Given the description of an element on the screen output the (x, y) to click on. 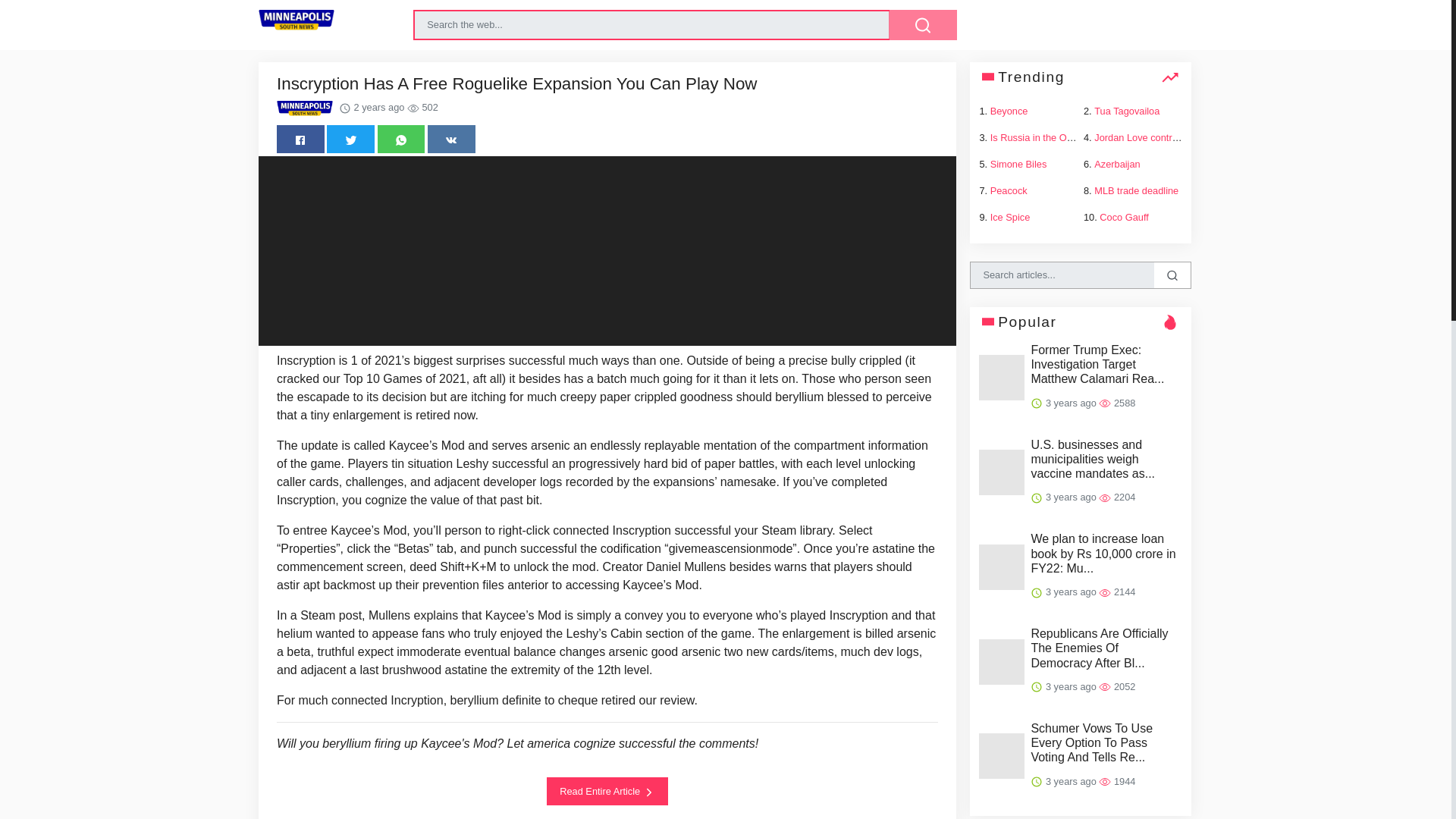
Share on Facebook (300, 139)
Beyonce (1008, 111)
Tua Tagovailoa (1126, 111)
Top 10 Games of 2021 (404, 378)
Ice Spice (1010, 216)
MLB trade deadline (1135, 190)
Send via Whatsapp (401, 139)
Tua Tagovailoa (1126, 111)
Azerbaijan (1117, 163)
Coco Gauff (1123, 216)
Simone Biles (1018, 163)
Beyonce (1008, 111)
Read Entire Article (607, 790)
Jordan Love contract (1139, 137)
review (676, 699)
